Given the description of an element on the screen output the (x, y) to click on. 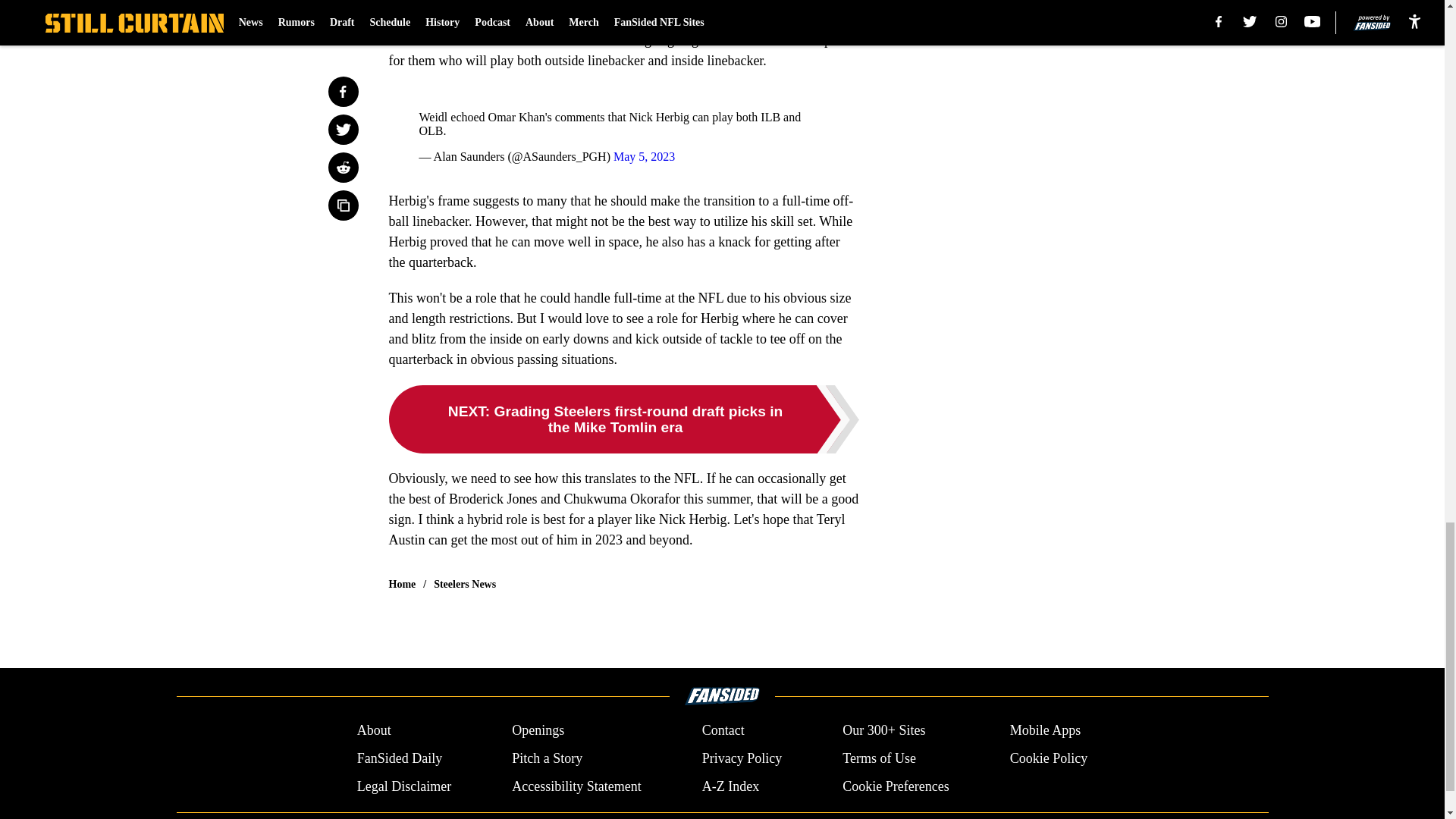
About (373, 730)
Openings (538, 730)
Contact (722, 730)
Steelers News (464, 584)
Home (401, 584)
Mobile Apps (1045, 730)
May 5, 2023 (643, 155)
